Given the description of an element on the screen output the (x, y) to click on. 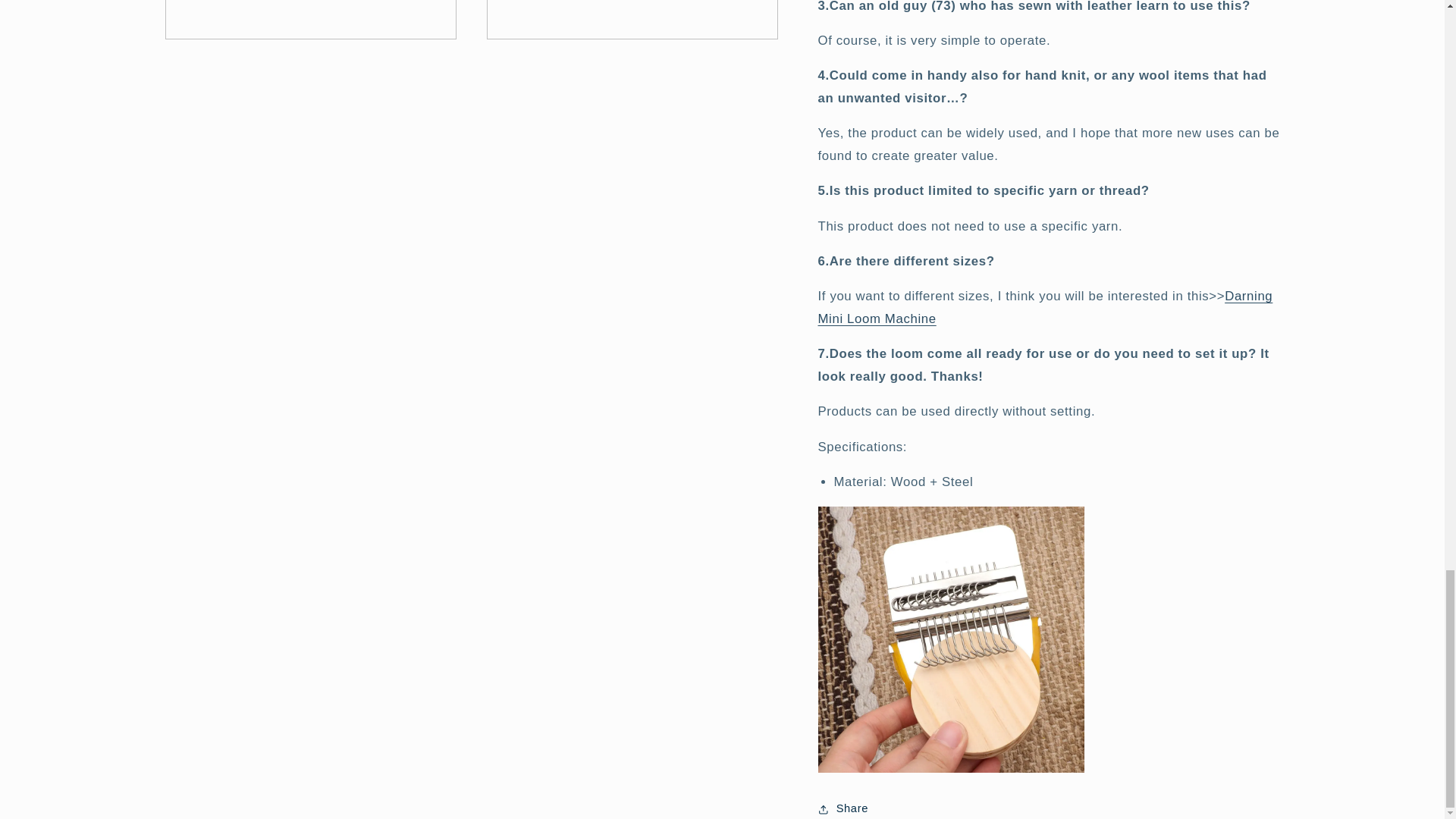
Darning Mini Loom Machine (1044, 294)
